Given the description of an element on the screen output the (x, y) to click on. 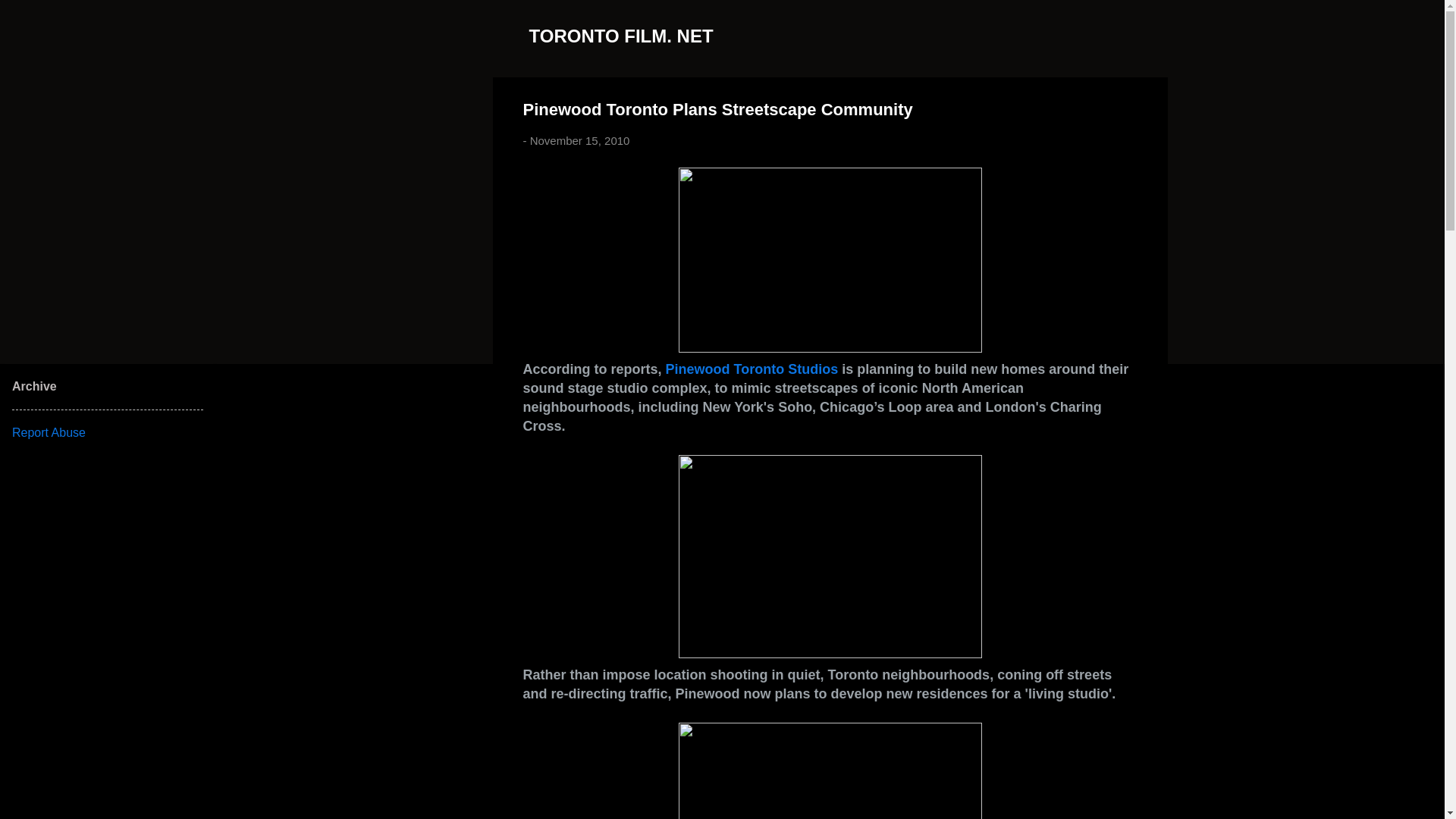
permanent link (579, 140)
November 15, 2010 (579, 140)
Search (29, 18)
TORONTO FILM. NET (621, 35)
Pinewood Toronto Studios (751, 368)
